Given the description of an element on the screen output the (x, y) to click on. 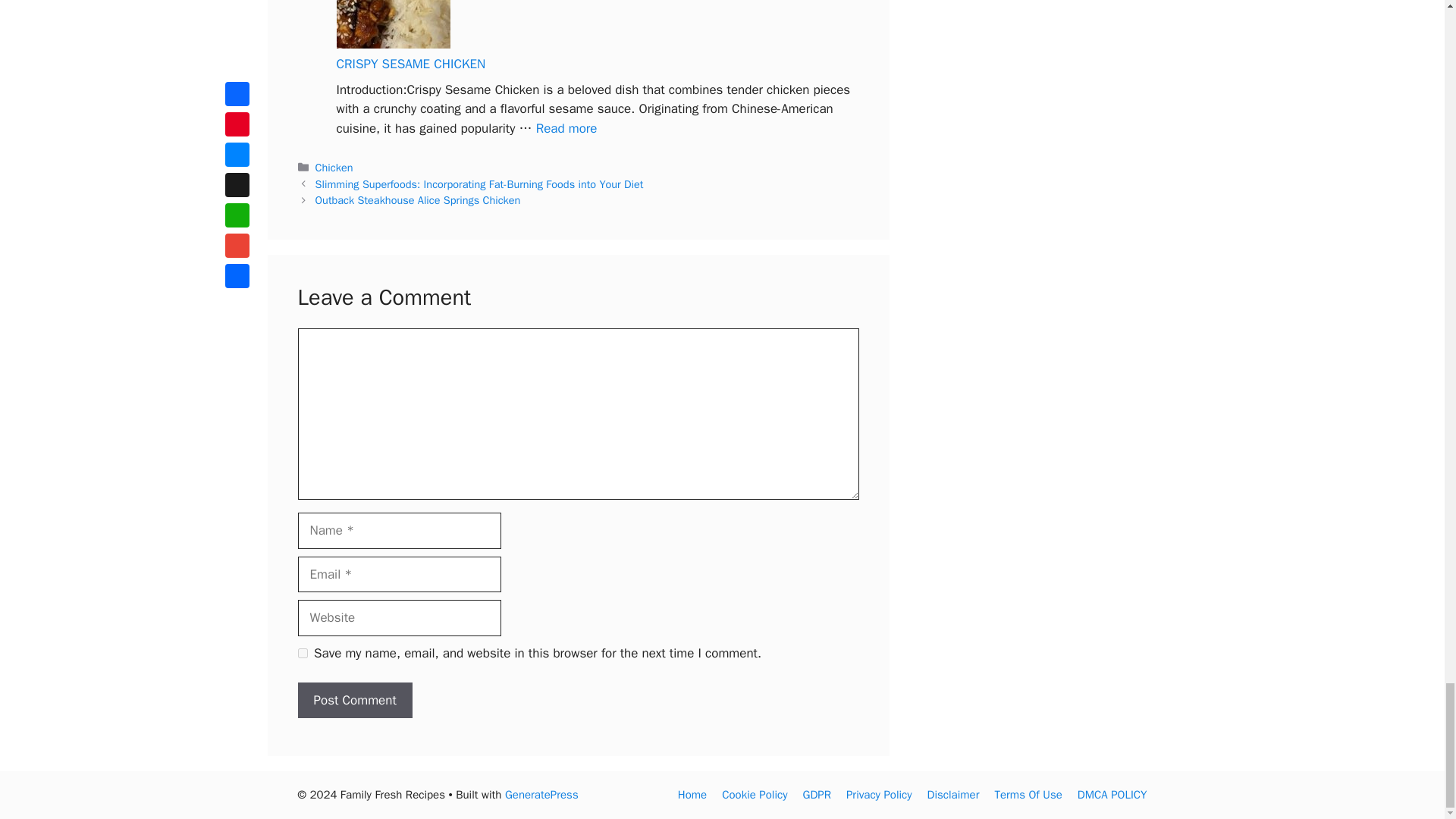
yes (302, 653)
CRISPY SESAME CHICKEN (565, 128)
Post Comment (354, 700)
